Given the description of an element on the screen output the (x, y) to click on. 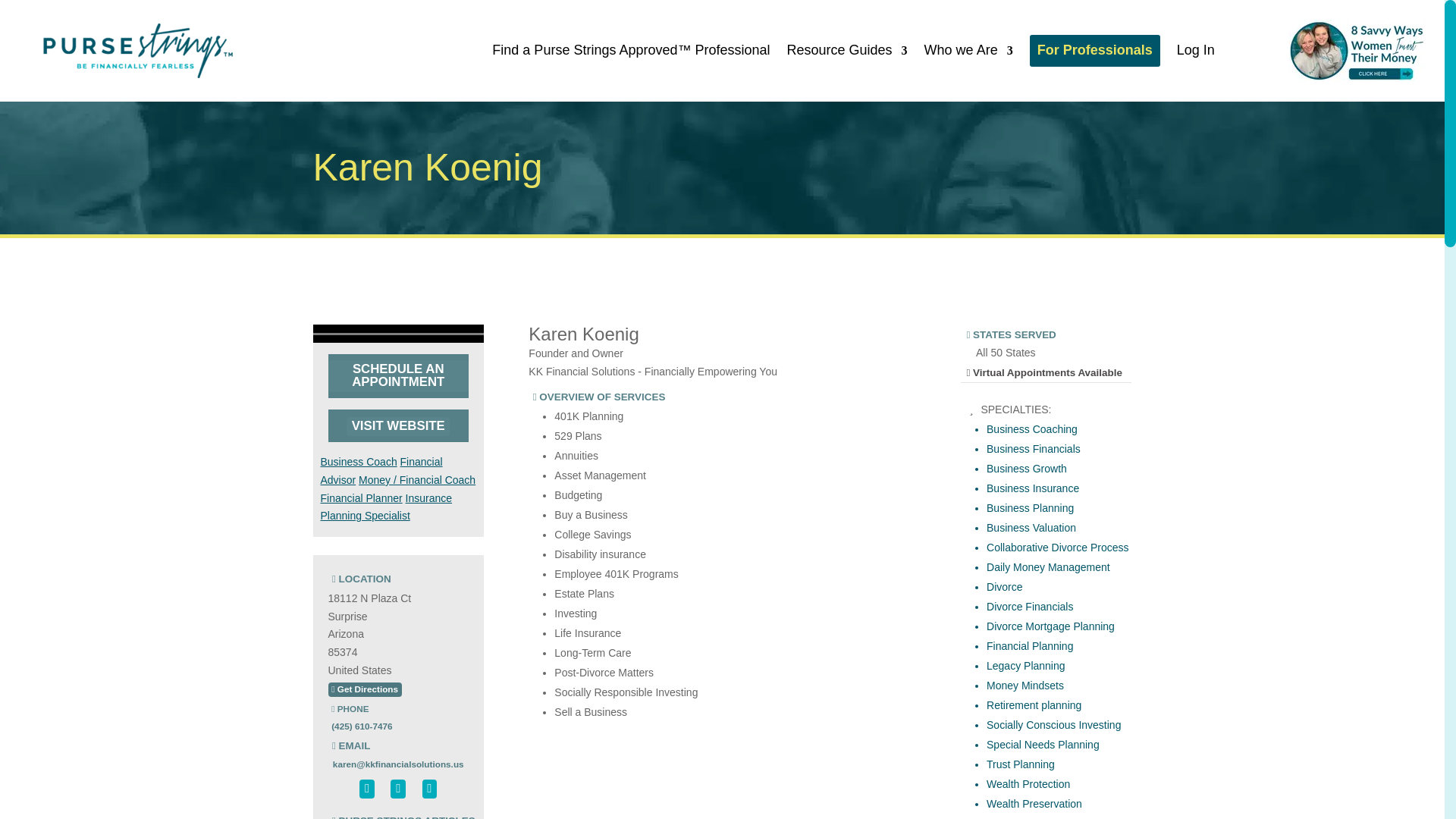
Who we Are (968, 50)
Insurance Planning Specialist (385, 507)
Business Coach (358, 461)
SCHEDULE AN APPOINTMENT (397, 376)
Resource Guides (847, 50)
Financial Advisor (381, 470)
8 savvy ways click (1356, 50)
Financial Planner (360, 498)
VISIT WEBSITE (397, 425)
